Given the description of an element on the screen output the (x, y) to click on. 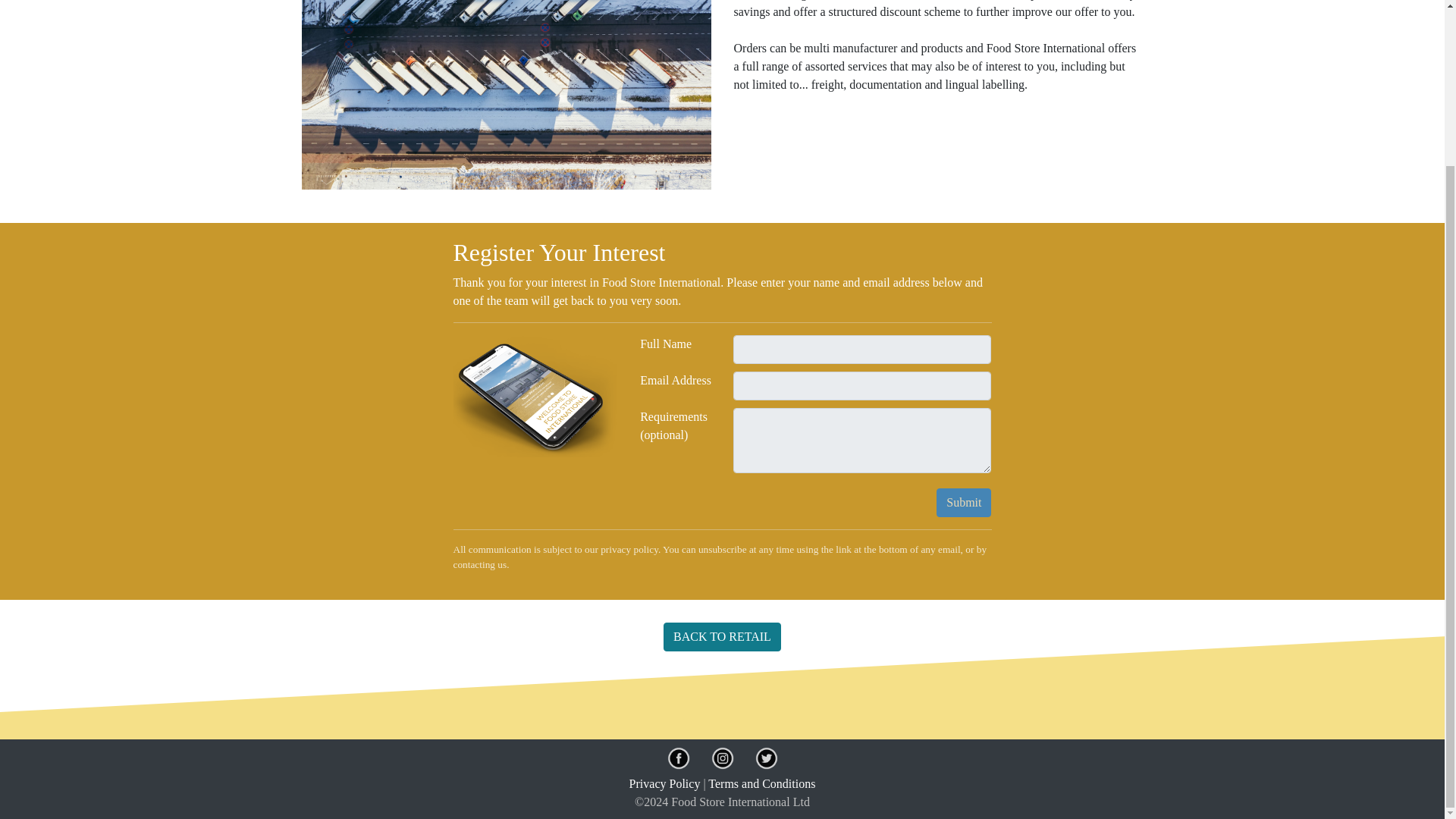
BACK TO RETAIL (721, 636)
Terms and Conditions (761, 783)
Submit (963, 502)
Privacy Policy (664, 783)
Submit (963, 502)
